Given the description of an element on the screen output the (x, y) to click on. 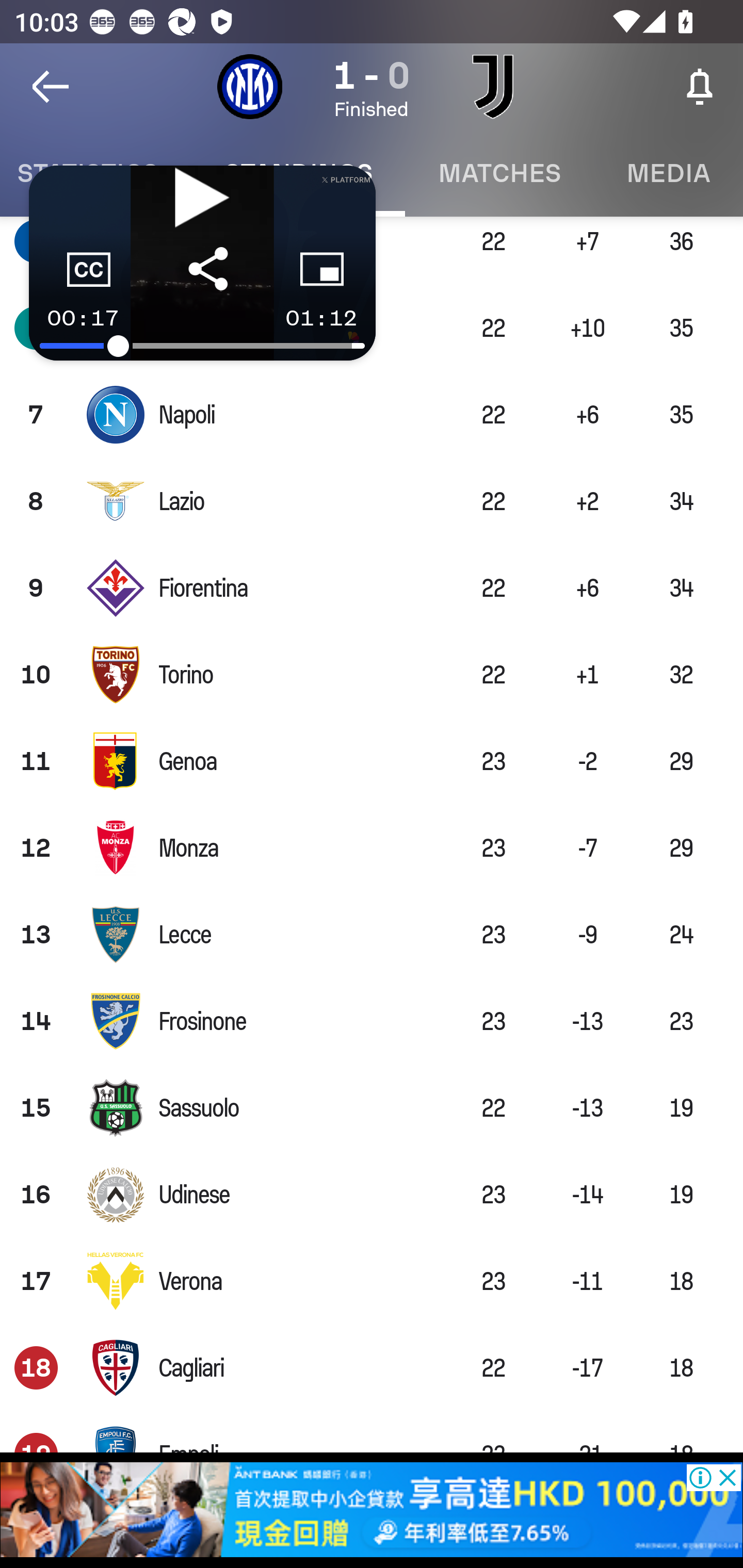
Navigate up (50, 86)
Matches MATCHES (498, 173)
Media MEDIA (668, 173)
7 Napoli 22 +6 35 (371, 414)
7 (36, 414)
8 Lazio 22 +2 34 (371, 500)
8 (36, 500)
9 Fiorentina 22 +6 34 (371, 587)
9 (36, 587)
10 Torino 22 +1 32 (371, 674)
10 (36, 674)
11 Genoa 23 -2 29 (371, 761)
11 (36, 761)
12 Monza 23 -7 29 (371, 847)
12 (36, 847)
13 Lecce 23 -9 24 (371, 934)
13 (36, 934)
14 Frosinone 23 -13 23 (371, 1021)
14 (36, 1021)
15 Sassuolo 22 -13 19 (371, 1107)
15 (36, 1107)
16 Udinese 23 -14 19 (371, 1193)
16 (36, 1193)
17 Verona 23 -11 18 (371, 1280)
17 (36, 1280)
18 Cagliari 22 -17 18 (371, 1367)
18 (36, 1367)
